Given the description of an element on the screen output the (x, y) to click on. 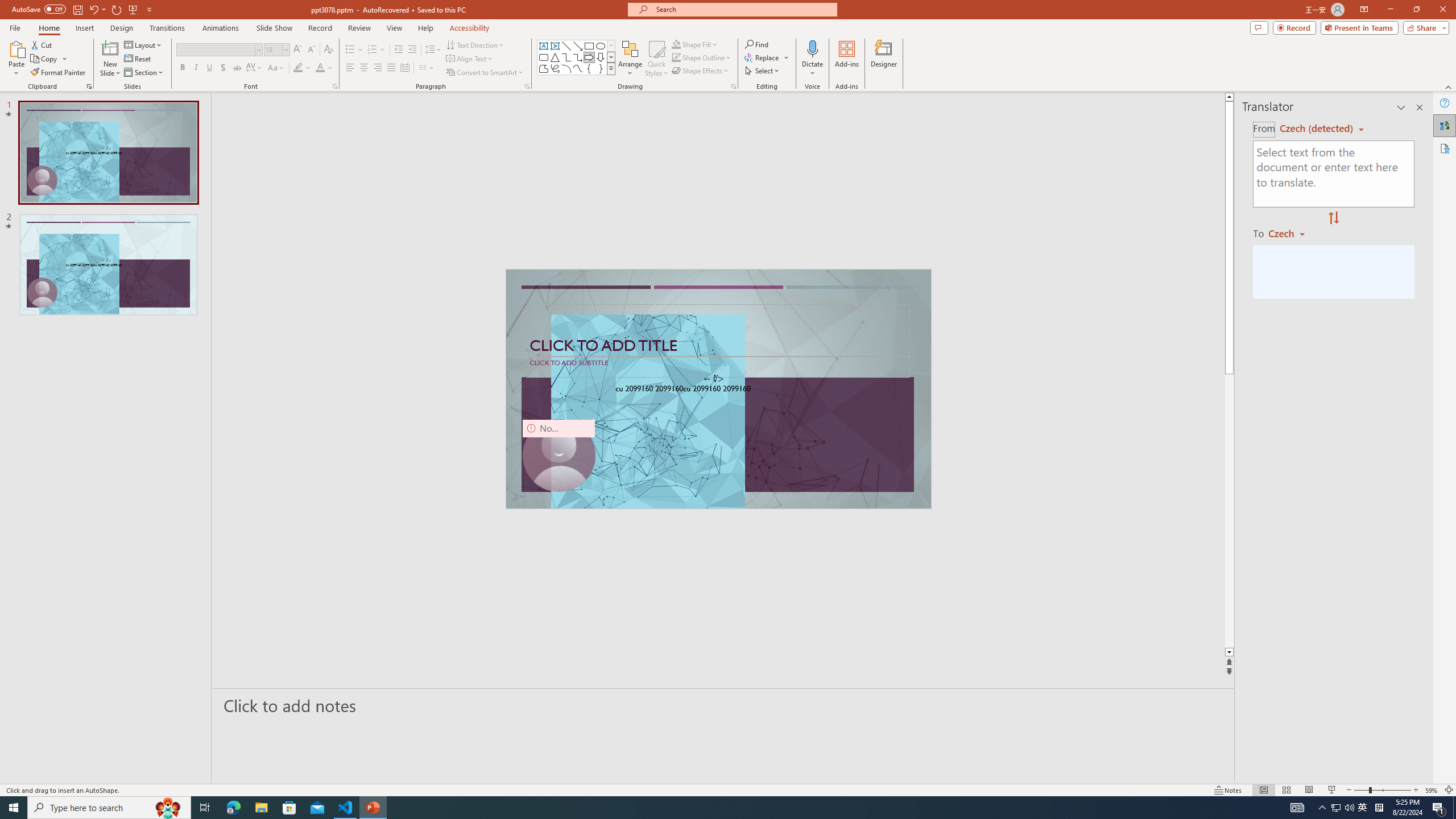
Slide Notes (724, 705)
Find... (756, 44)
Shadow (223, 67)
TextBox 7 (713, 378)
Reset (138, 58)
